Given the description of an element on the screen output the (x, y) to click on. 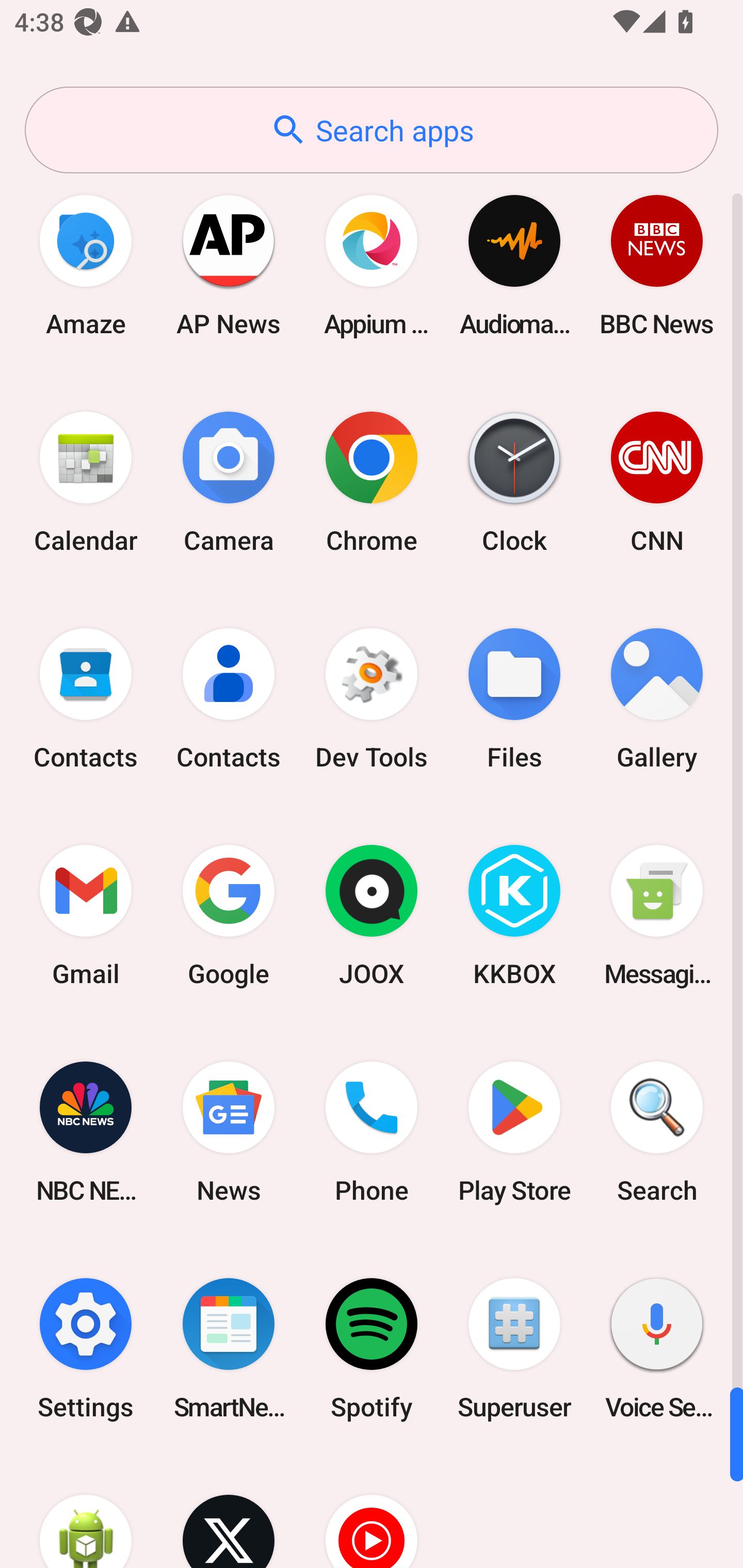
  Search apps (371, 130)
Amaze (85, 264)
AP News (228, 264)
Appium Settings (371, 264)
Audio­mack (514, 264)
BBC News (656, 264)
Calendar (85, 482)
Camera (228, 482)
Chrome (371, 482)
Clock (514, 482)
CNN (656, 482)
Contacts (85, 699)
Contacts (228, 699)
Dev Tools (371, 699)
Files (514, 699)
Gallery (656, 699)
Gmail (85, 915)
Google (228, 915)
JOOX (371, 915)
KKBOX (514, 915)
Messaging (656, 915)
NBC NEWS (85, 1131)
News (228, 1131)
Phone (371, 1131)
Play Store (514, 1131)
Search (656, 1131)
Settings (85, 1348)
SmartNews (228, 1348)
Spotify (371, 1348)
Superuser (514, 1348)
Voice Search (656, 1348)
WebView Browser Tester (85, 1512)
X (228, 1512)
YT Music (371, 1512)
